Given the description of an element on the screen output the (x, y) to click on. 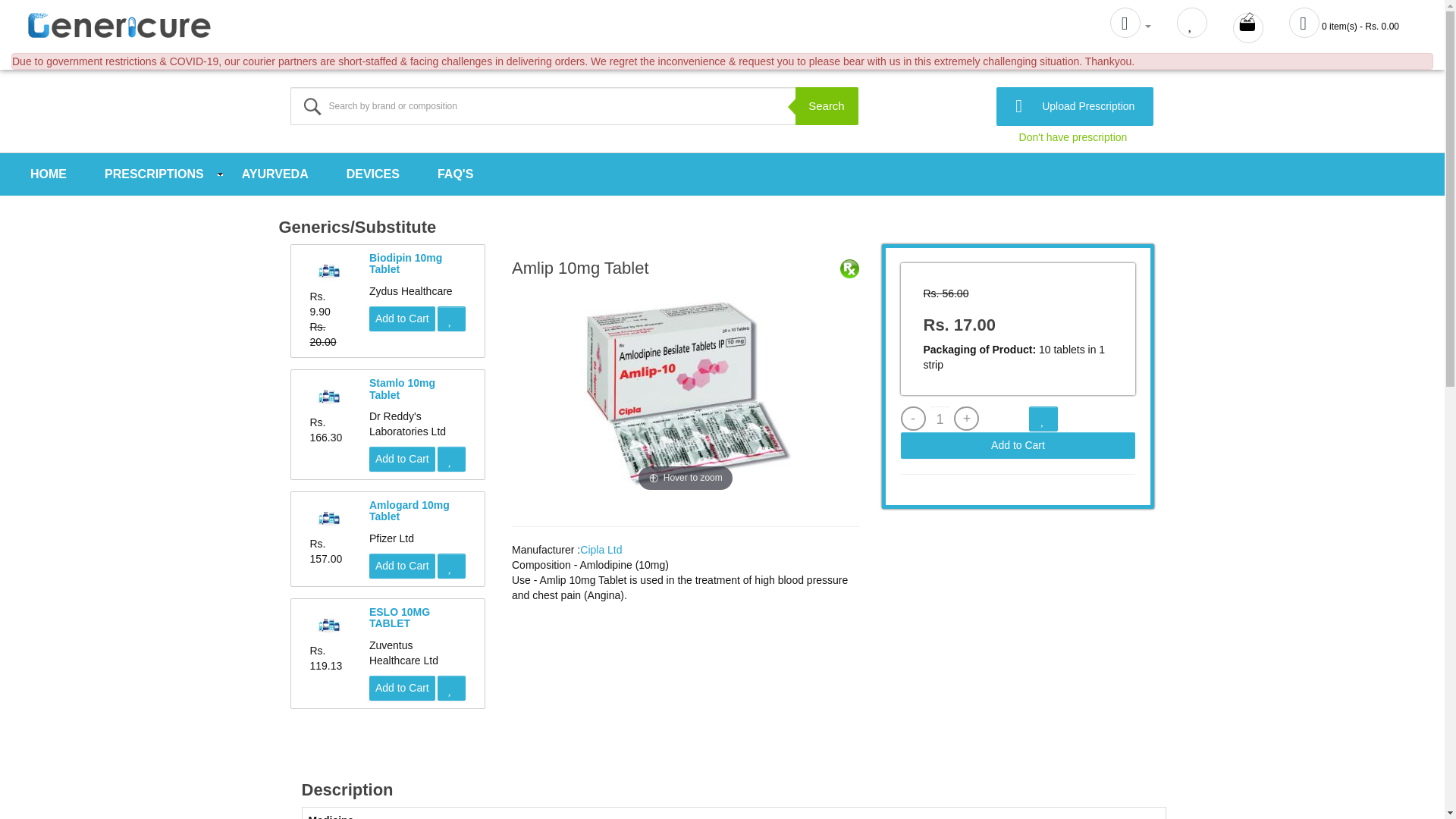
ESLO 10MG TABLET (399, 617)
Add to Cart (402, 688)
DEVICES (373, 174)
Upload Prescription (1074, 106)
Stamlo 10mg Tablet (402, 388)
Search (826, 105)
My Account (1130, 25)
HOME (48, 174)
Hover to zoom (685, 390)
Biodipin 10mg Tablet (405, 263)
Genericure (119, 22)
PRESCRIPTIONS (153, 174)
AYURVEDA (274, 174)
Don't have prescription (1017, 136)
Add to Cart (402, 458)
